Given the description of an element on the screen output the (x, y) to click on. 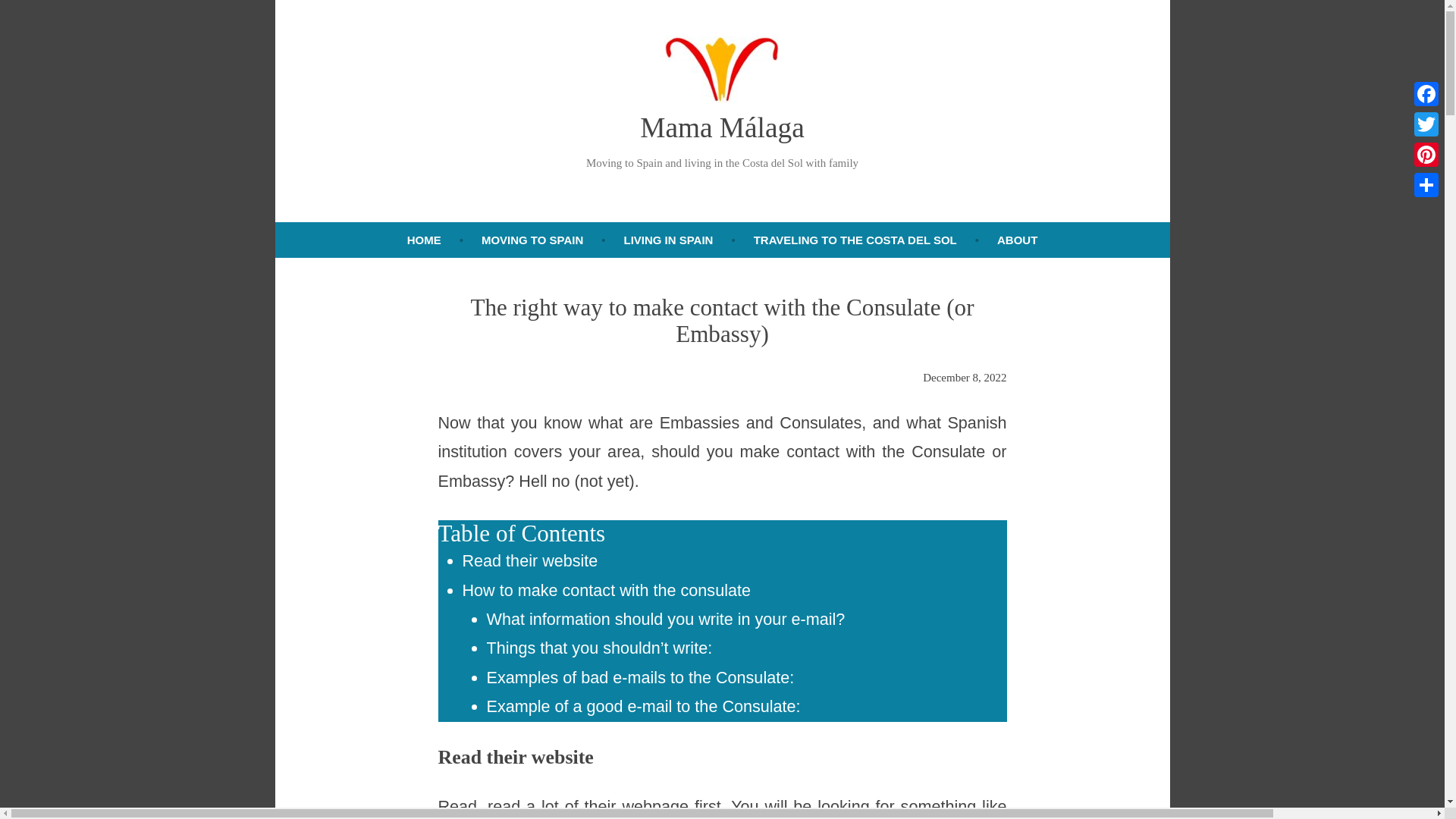
Facebook (1425, 93)
Twitter (1425, 123)
Read their website (530, 560)
TRAVELING TO THE COSTA DEL SOL (855, 239)
Facebook (1425, 93)
Share (1425, 184)
Pinterest (1425, 154)
HOME (423, 239)
Pinterest (1425, 154)
Example of a good e-mail to the Consulate: (643, 705)
Twitter (1425, 123)
ABOUT (1017, 239)
MOVING TO SPAIN (531, 239)
What information should you write in your e-mail? (665, 618)
